Given the description of an element on the screen output the (x, y) to click on. 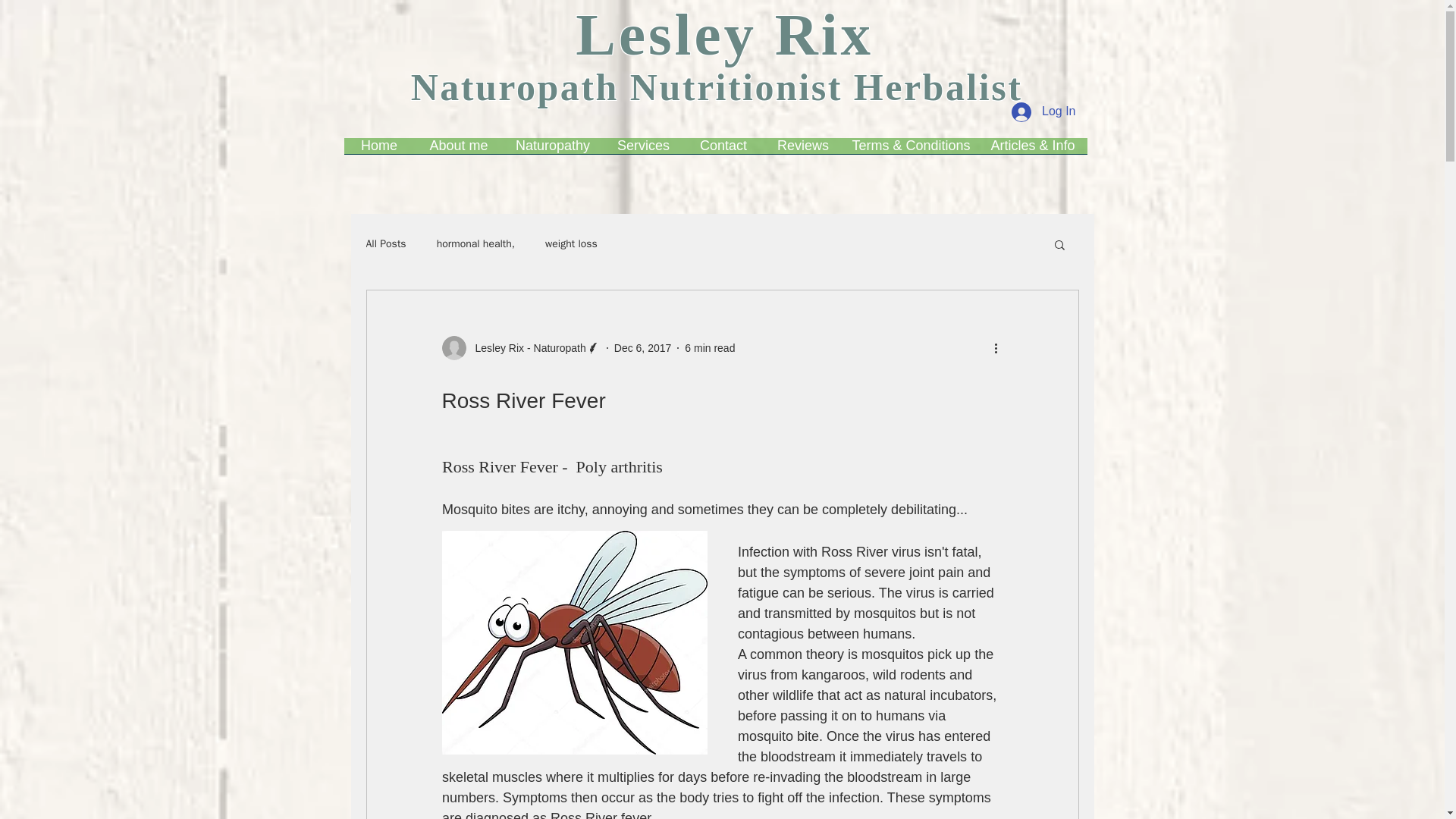
Services (643, 150)
Contact (722, 150)
Naturopathy (552, 150)
Lesley Rix - Naturopath (525, 347)
Log In (1043, 111)
hormonal health, (475, 243)
weight loss (570, 243)
Home (378, 150)
6 min read (709, 346)
Dec 6, 2017 (642, 346)
About me (457, 150)
Reviews (803, 150)
Lesley Rix - Naturopath (520, 347)
All Posts (385, 243)
